Given the description of an element on the screen output the (x, y) to click on. 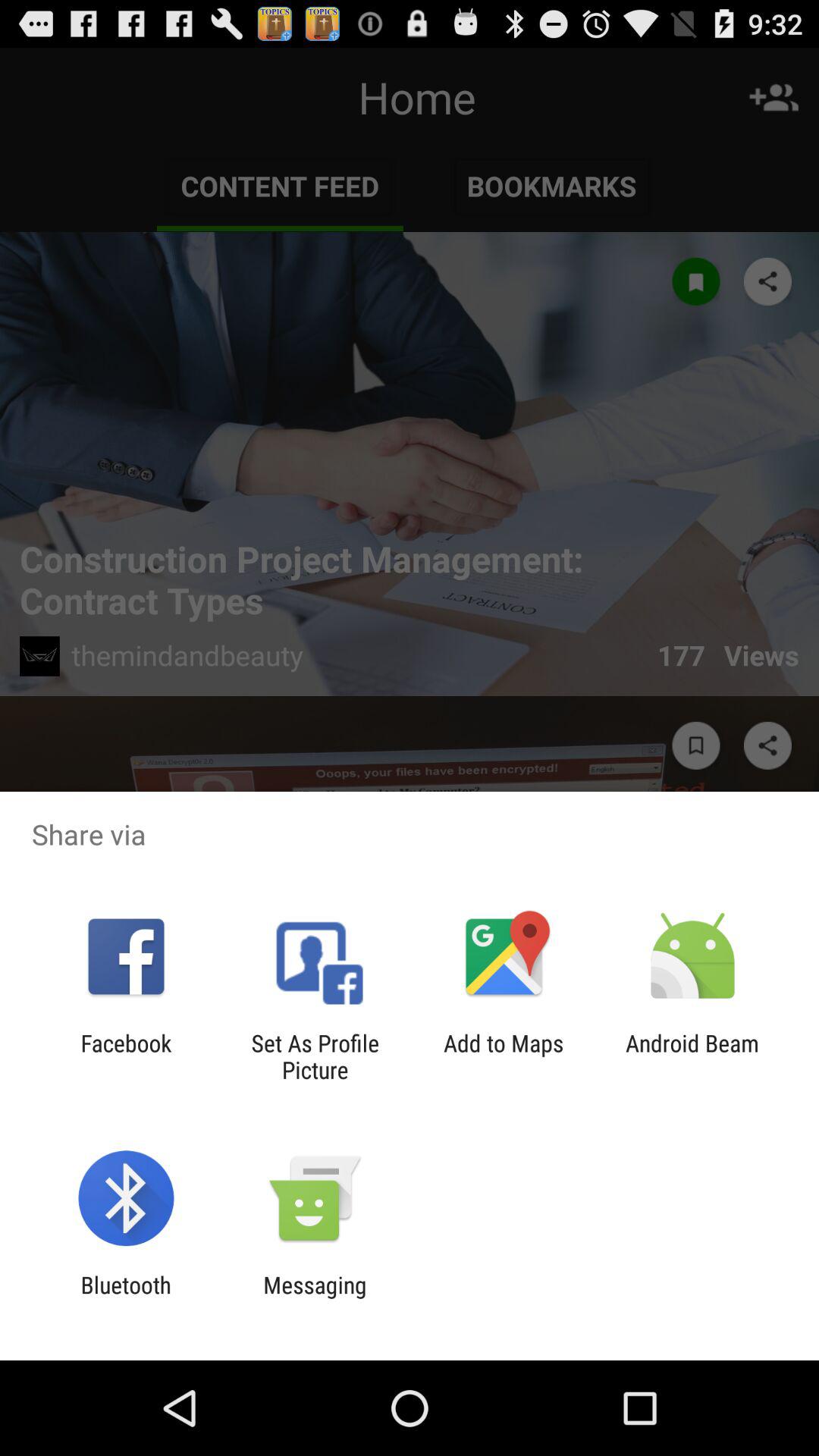
open app next to the set as profile (503, 1056)
